Given the description of an element on the screen output the (x, y) to click on. 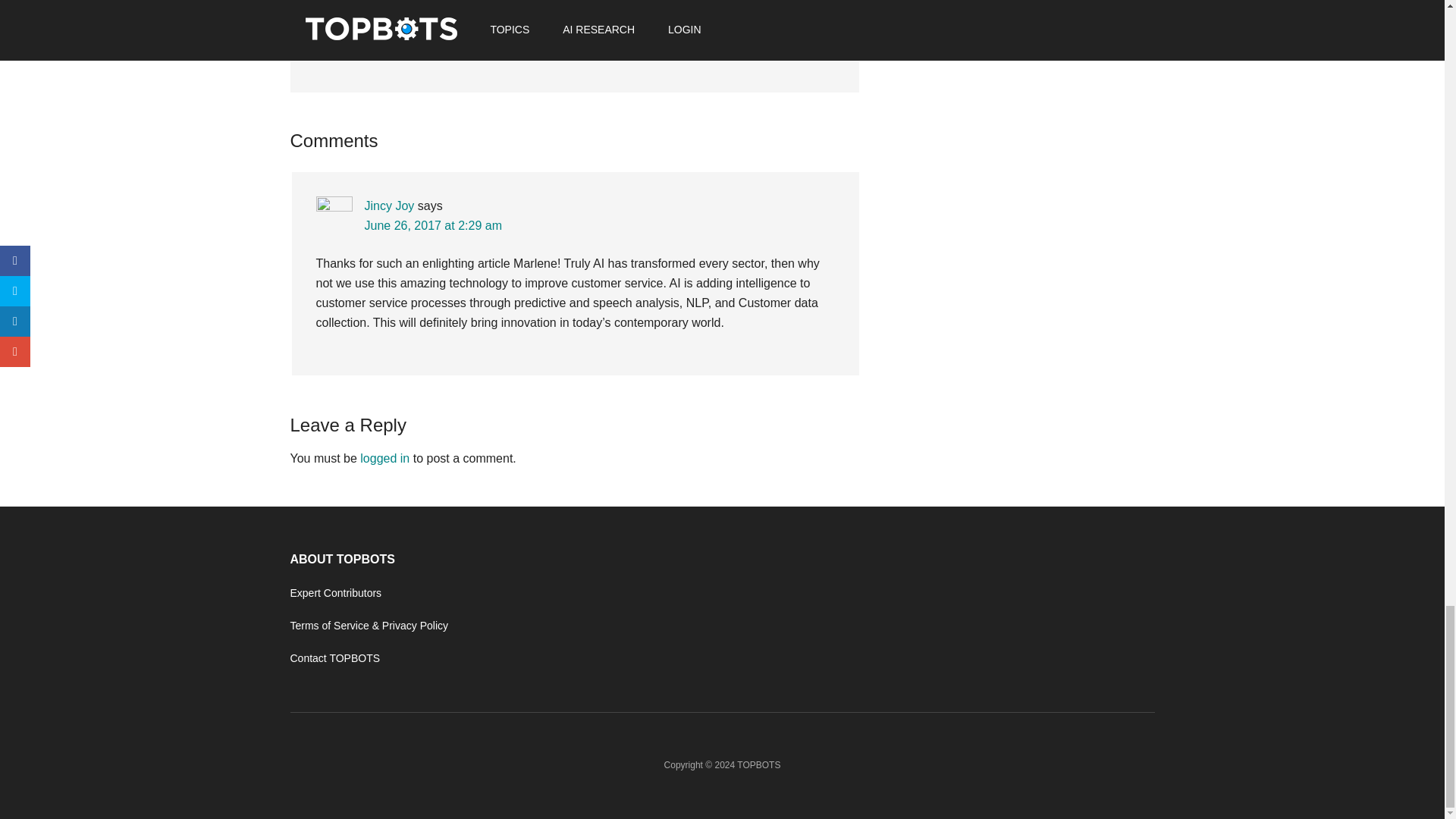
June 26, 2017 at 2:29 am (432, 225)
logged in (384, 458)
Jincy Joy (388, 205)
